Given the description of an element on the screen output the (x, y) to click on. 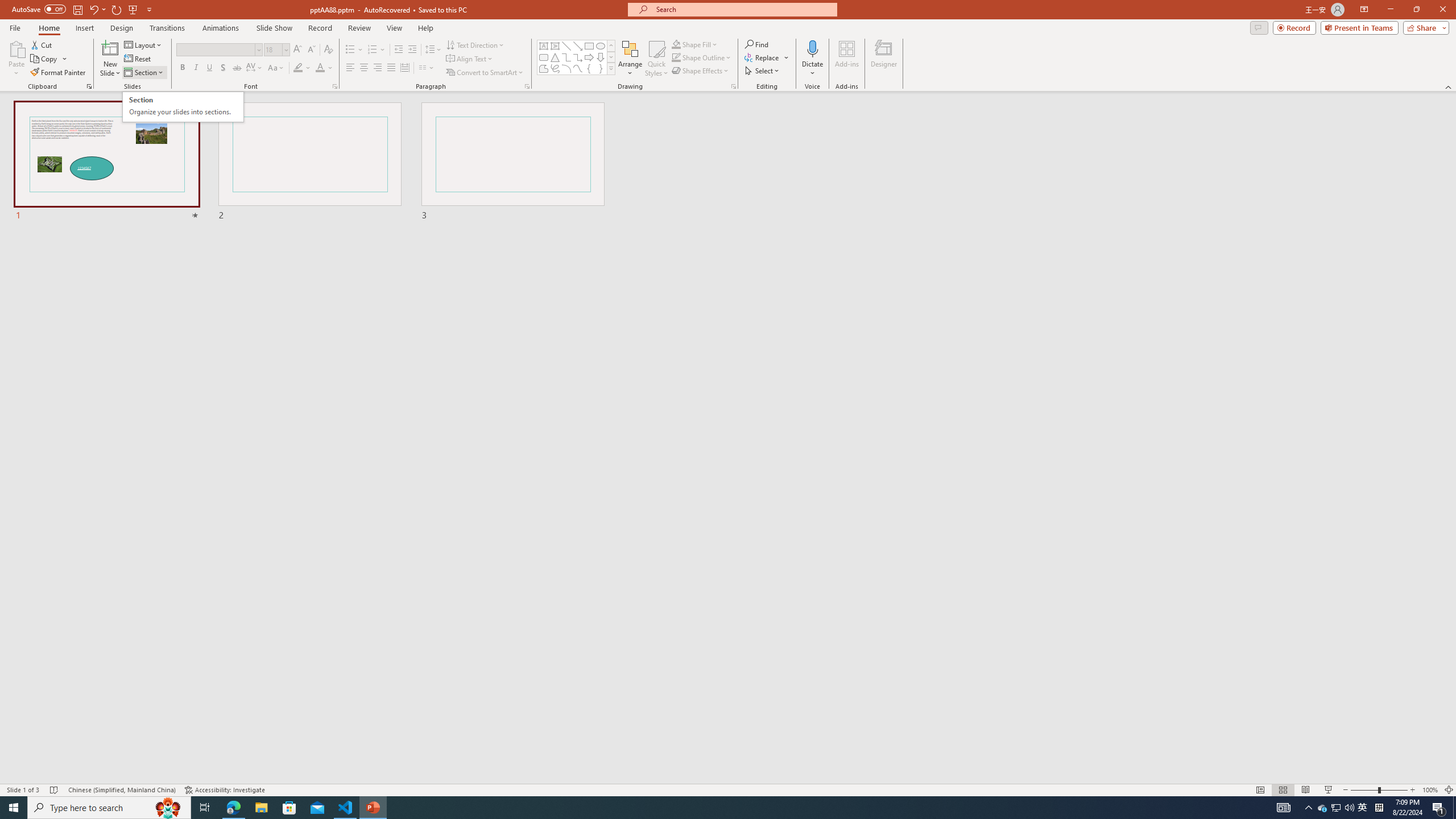
Shape Fill Aqua, Accent 2 (183, 106)
